Given the description of an element on the screen output the (x, y) to click on. 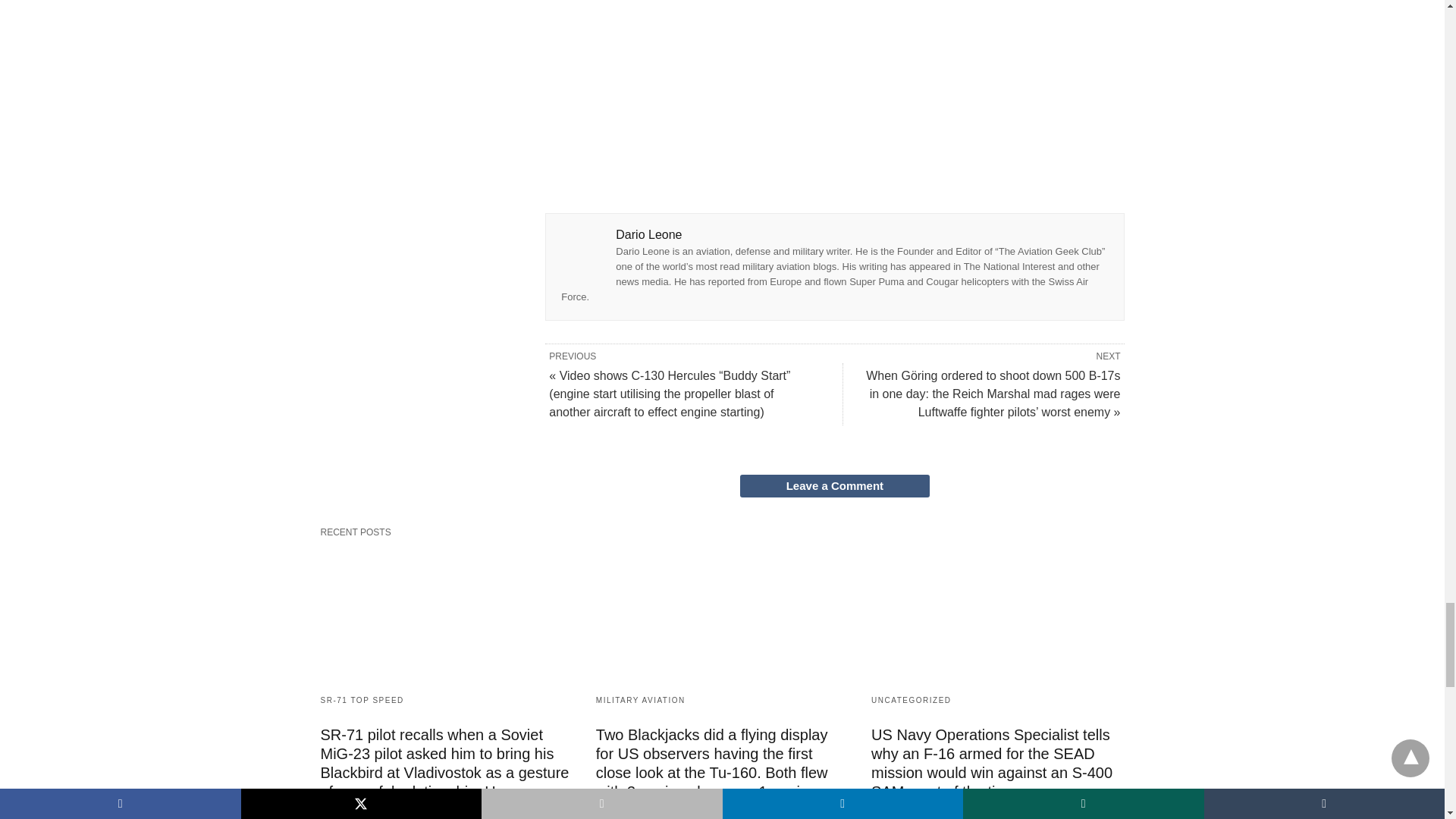
Leave a Comment (834, 486)
